Given the description of an element on the screen output the (x, y) to click on. 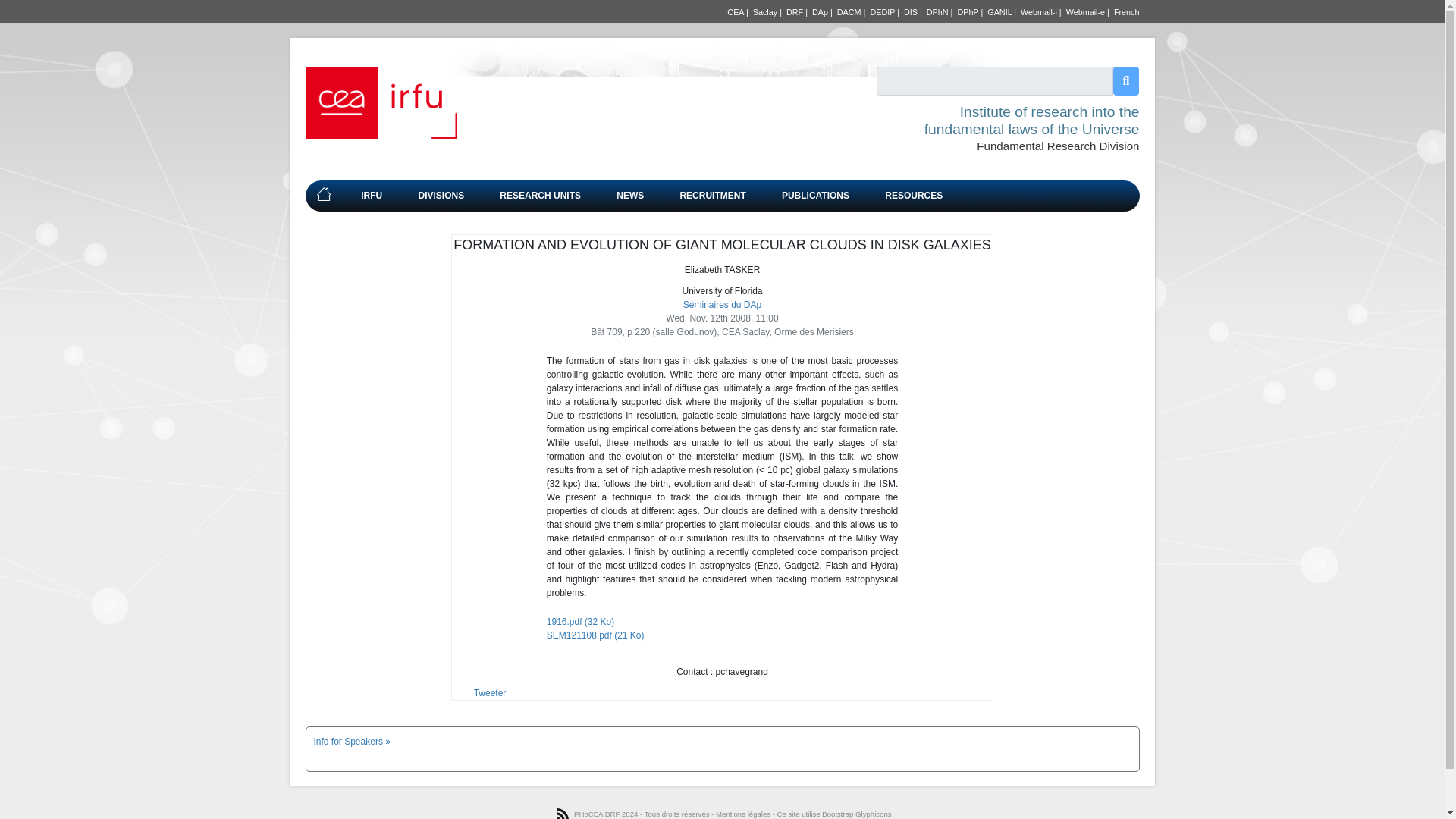
French (1126, 11)
